Given the description of an element on the screen output the (x, y) to click on. 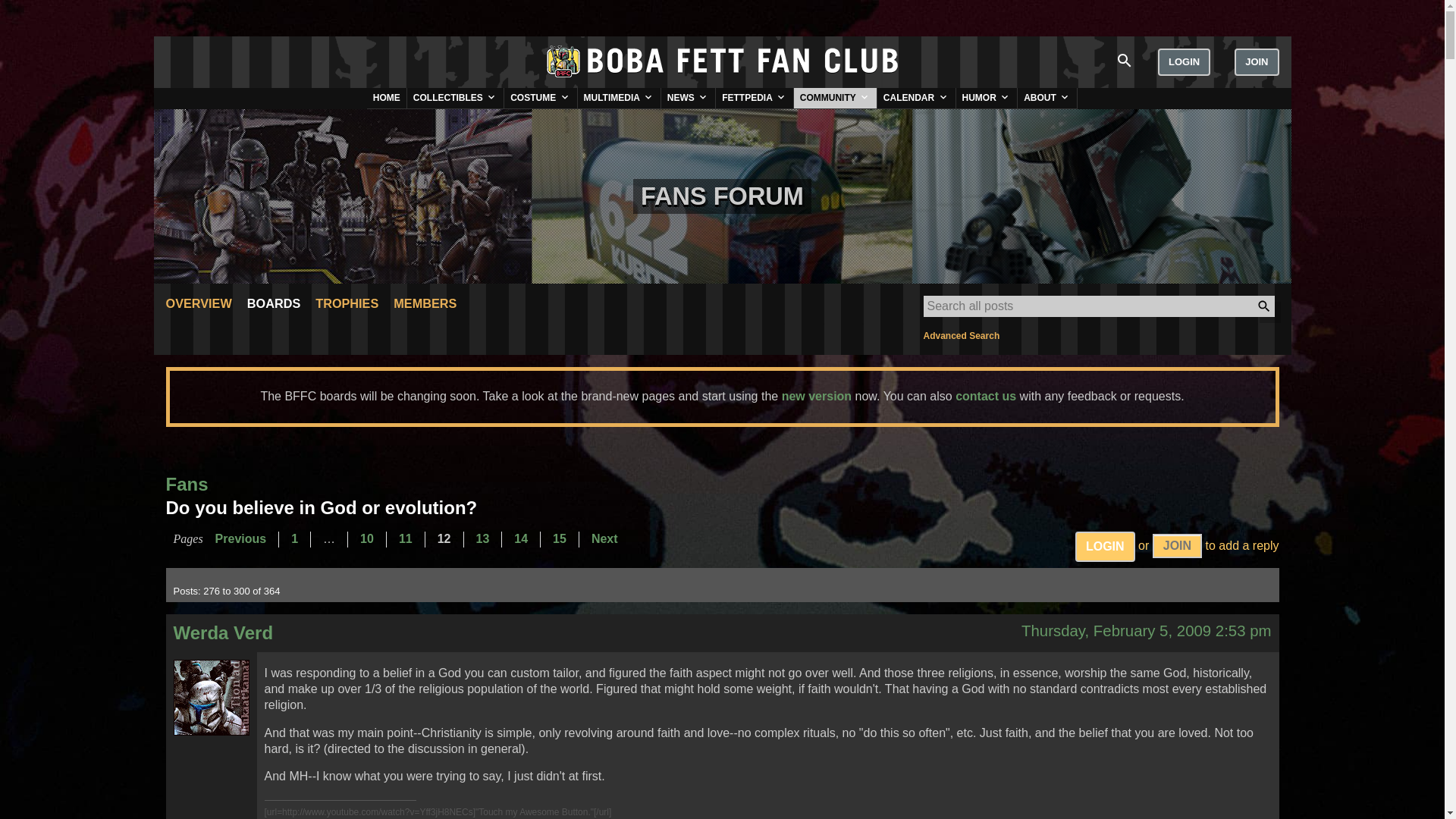
Go to Werda Verd's profile (223, 632)
Create a BFFC Account (1177, 545)
MULTIMEDIA (619, 97)
COSTUME (539, 97)
JOIN (1256, 62)
Go to Werda Verd's profile (210, 697)
Permanent link to this post (1146, 630)
LOGIN (1183, 62)
NEWS (687, 97)
COLLECTIBLES (455, 97)
